Given the description of an element on the screen output the (x, y) to click on. 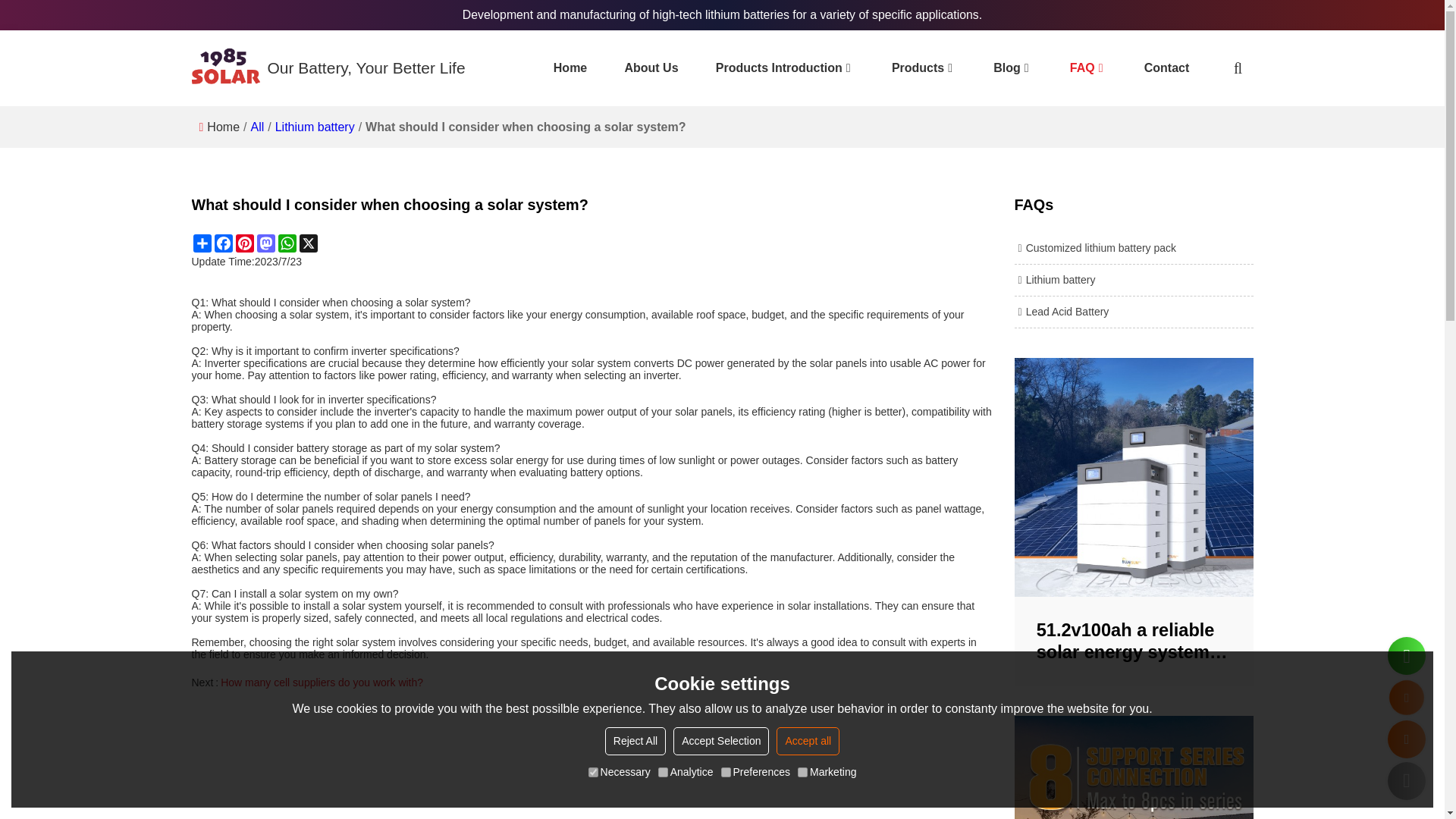
Customized lithium battery pack (1133, 248)
Lithium battery (315, 126)
1985  Information Technology TianJin Co.,Ltd (224, 68)
How many cell suppliers do you work with? (606, 682)
Products Introduction (785, 68)
Facebook (222, 243)
X (307, 243)
on (593, 772)
Pinterest (243, 243)
on (802, 772)
on (663, 772)
Lithium battery (1133, 279)
Lead Acid Battery (1133, 311)
Home (223, 126)
Share (201, 243)
